Given the description of an element on the screen output the (x, y) to click on. 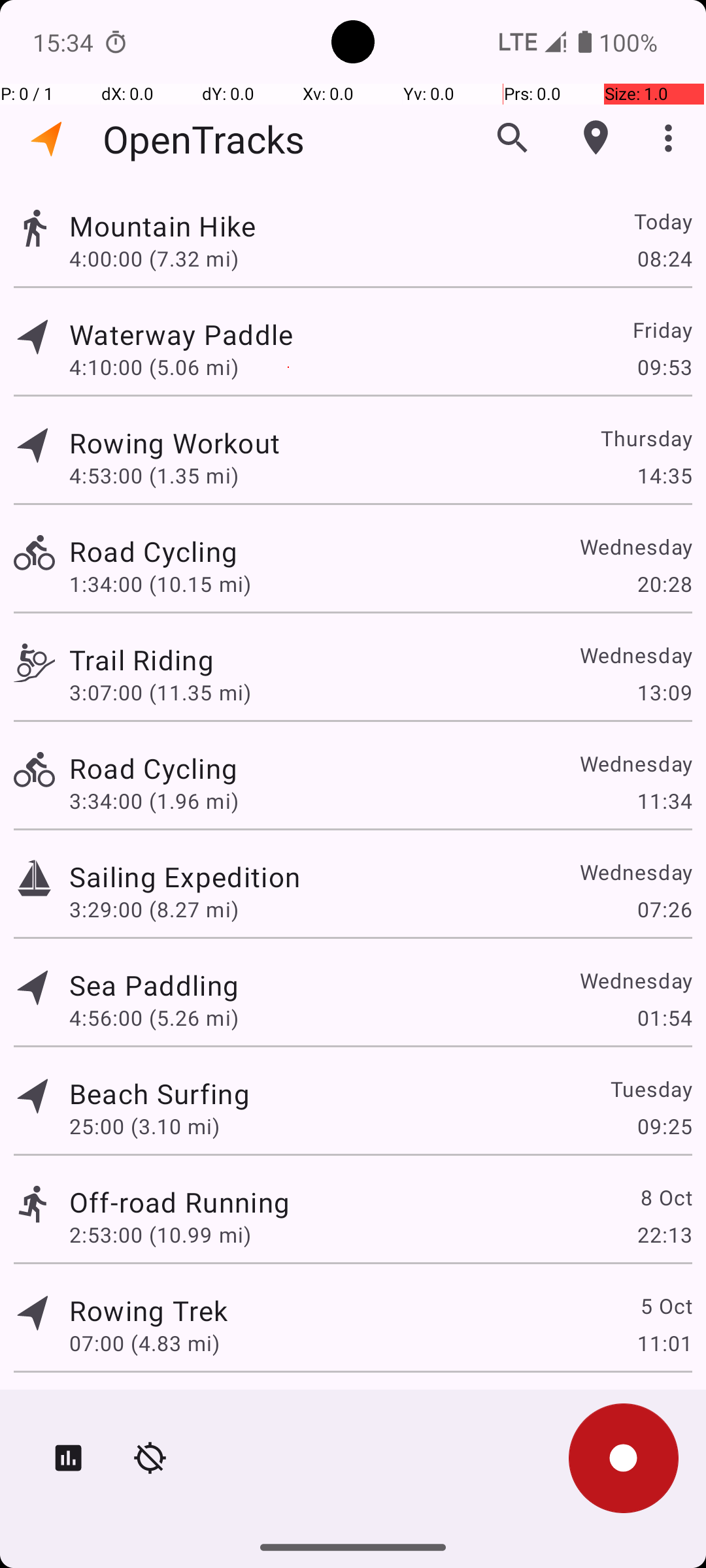
Mountain Hike Element type: android.widget.TextView (162, 225)
4:00:00 (7.32 mi) Element type: android.widget.TextView (153, 258)
08:24 Element type: android.widget.TextView (664, 258)
Waterway Paddle Element type: android.widget.TextView (180, 333)
4:10:00 (5.06 mi) Element type: android.widget.TextView (153, 366)
09:53 Element type: android.widget.TextView (664, 366)
Rowing Workout Element type: android.widget.TextView (174, 442)
4:53:00 (1.35 mi) Element type: android.widget.TextView (153, 475)
14:35 Element type: android.widget.TextView (664, 475)
Road Cycling Element type: android.widget.TextView (152, 550)
1:34:00 (10.15 mi) Element type: android.widget.TextView (159, 583)
20:28 Element type: android.widget.TextView (664, 583)
Trail Riding Element type: android.widget.TextView (141, 659)
3:07:00 (11.35 mi) Element type: android.widget.TextView (159, 692)
13:09 Element type: android.widget.TextView (664, 692)
3:34:00 (1.96 mi) Element type: android.widget.TextView (153, 800)
11:34 Element type: android.widget.TextView (664, 800)
Sailing Expedition Element type: android.widget.TextView (184, 876)
3:29:00 (8.27 mi) Element type: android.widget.TextView (153, 909)
07:26 Element type: android.widget.TextView (664, 909)
Sea Paddling Element type: android.widget.TextView (153, 984)
4:56:00 (5.26 mi) Element type: android.widget.TextView (153, 1017)
01:54 Element type: android.widget.TextView (664, 1017)
Beach Surfing Element type: android.widget.TextView (159, 1092)
25:00 (3.10 mi) Element type: android.widget.TextView (144, 1125)
09:25 Element type: android.widget.TextView (664, 1125)
Off-road Running Element type: android.widget.TextView (179, 1201)
2:53:00 (10.99 mi) Element type: android.widget.TextView (159, 1234)
22:13 Element type: android.widget.TextView (664, 1234)
Rowing Trek Element type: android.widget.TextView (148, 1309)
5 Oct Element type: android.widget.TextView (665, 1305)
07:00 (4.83 mi) Element type: android.widget.TextView (144, 1342)
11:01 Element type: android.widget.TextView (664, 1342)
More tired than usual today Element type: android.widget.TextView (246, 1408)
